Given the description of an element on the screen output the (x, y) to click on. 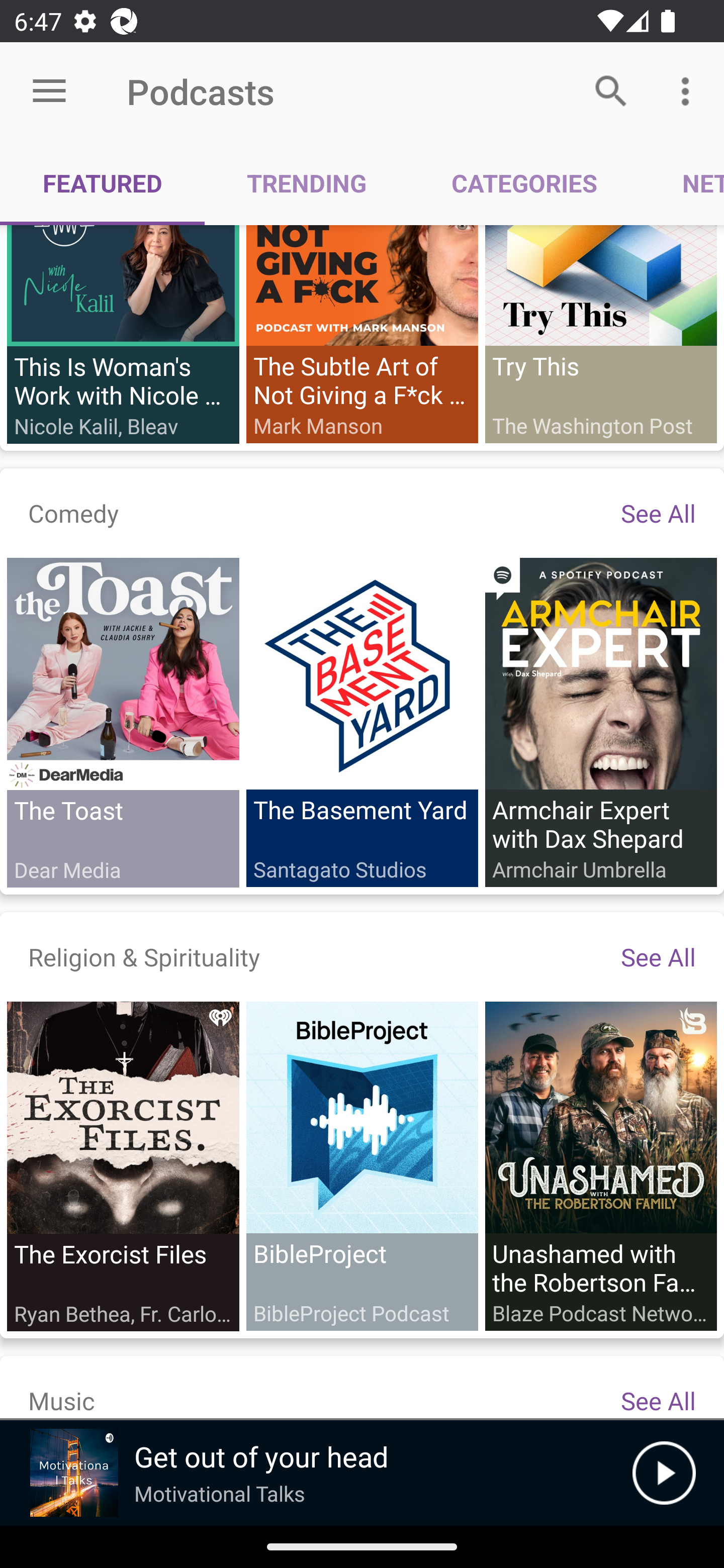
Open menu (49, 91)
Search (611, 90)
More options (688, 90)
FEATURED (102, 183)
TRENDING (306, 183)
CATEGORIES (524, 183)
Try This The Washington Post (600, 334)
Comedy (73, 513)
See All (658, 513)
The Toast Dear Media (123, 722)
The Basement Yard Santagato Studios (361, 722)
Armchair Expert with Dax Shepard Armchair Umbrella (600, 722)
Religion & Spirituality (143, 956)
See All (658, 956)
The Exorcist Files Ryan Bethea, Fr. Carlos Martins (123, 1166)
BibleProject BibleProject Podcast (361, 1166)
Music (61, 1400)
See All (658, 1400)
Picture Get out of your head Motivational Talks (316, 1472)
Play (663, 1472)
